Given the description of an element on the screen output the (x, y) to click on. 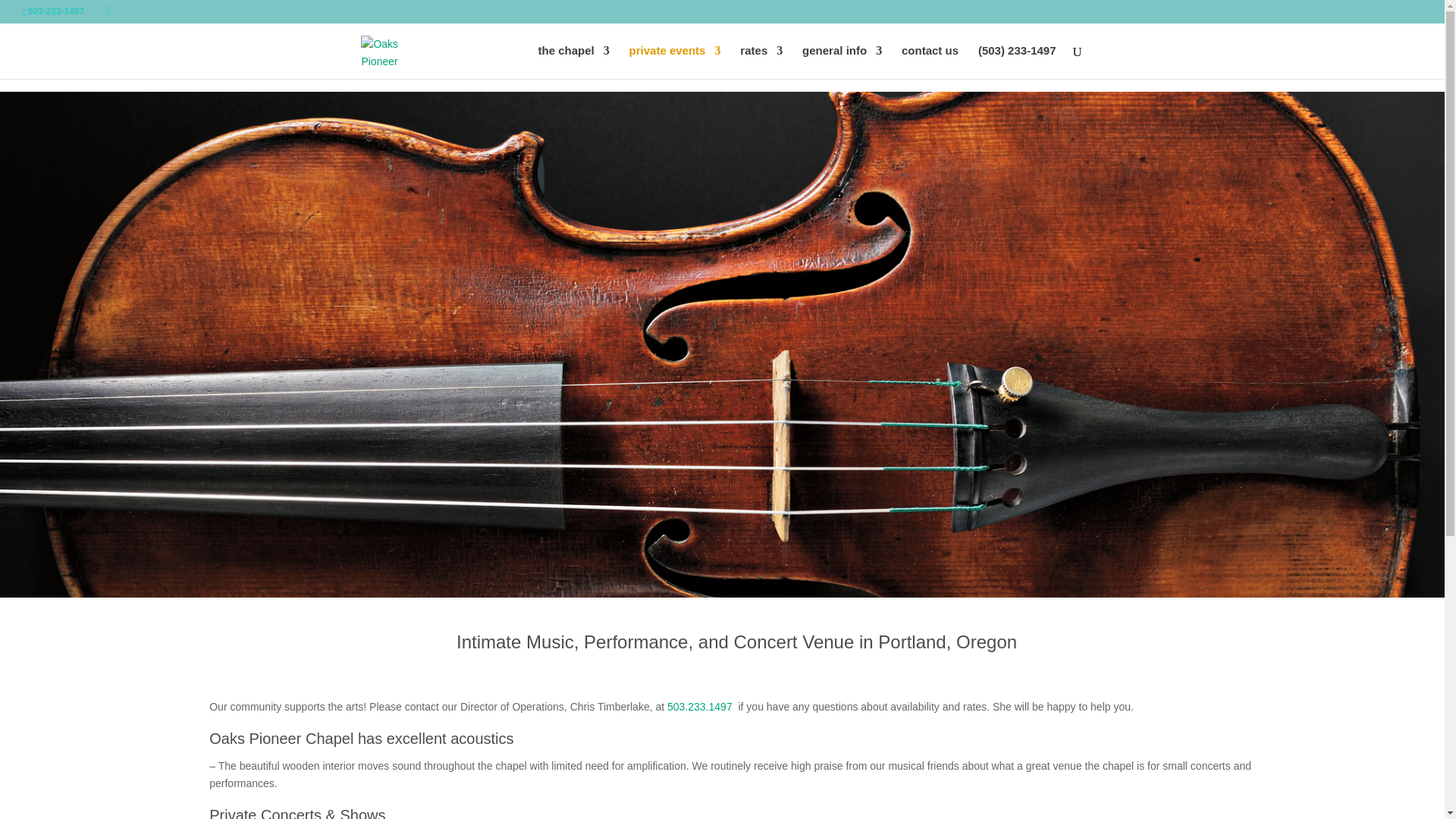
the chapel (574, 61)
rates (761, 61)
private events (674, 61)
general info (842, 61)
